Given the description of an element on the screen output the (x, y) to click on. 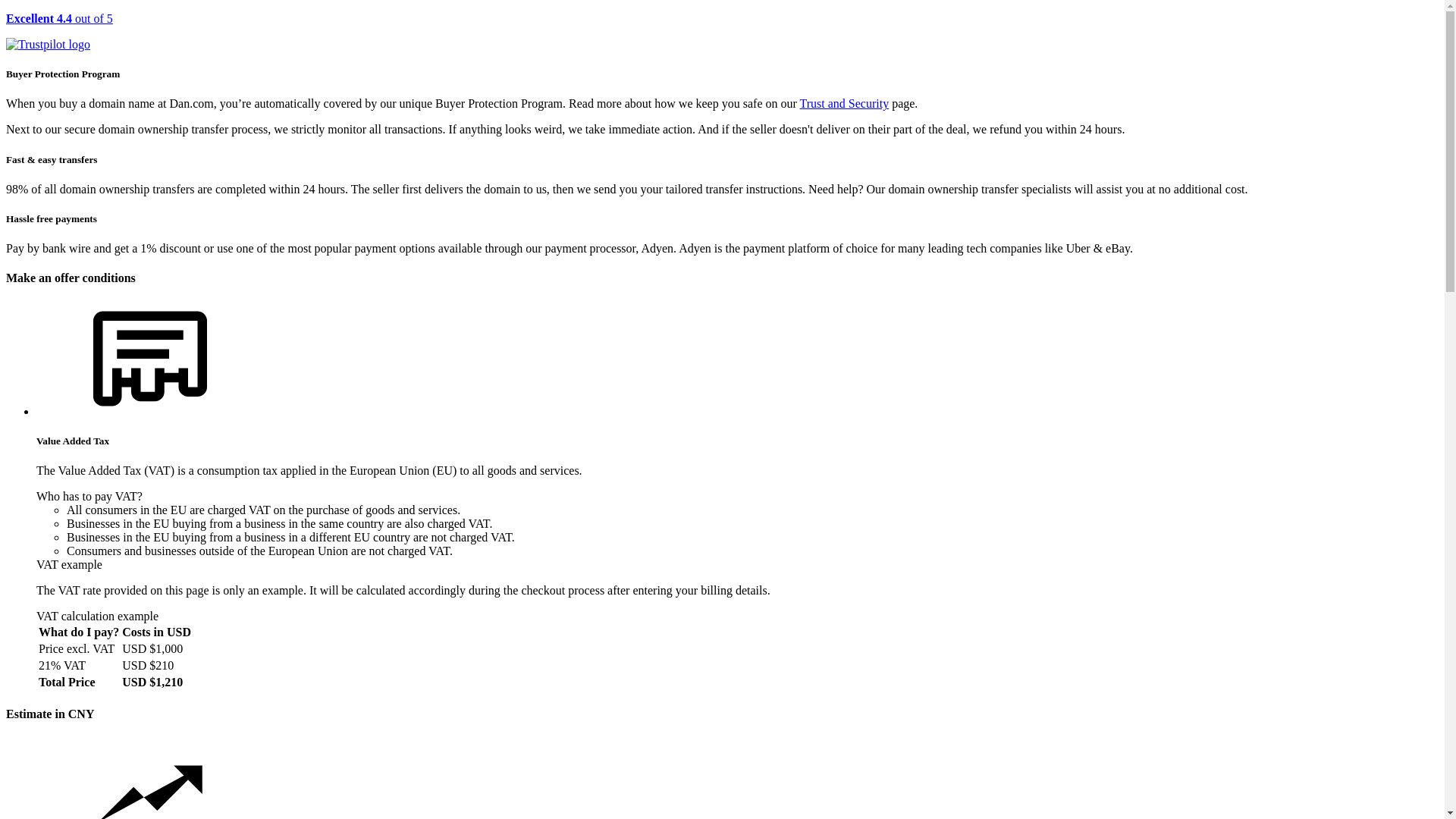
Trust and Security Element type: text (844, 103)
Excellent 4.4 out of 5 Element type: text (722, 31)
